Given the description of an element on the screen output the (x, y) to click on. 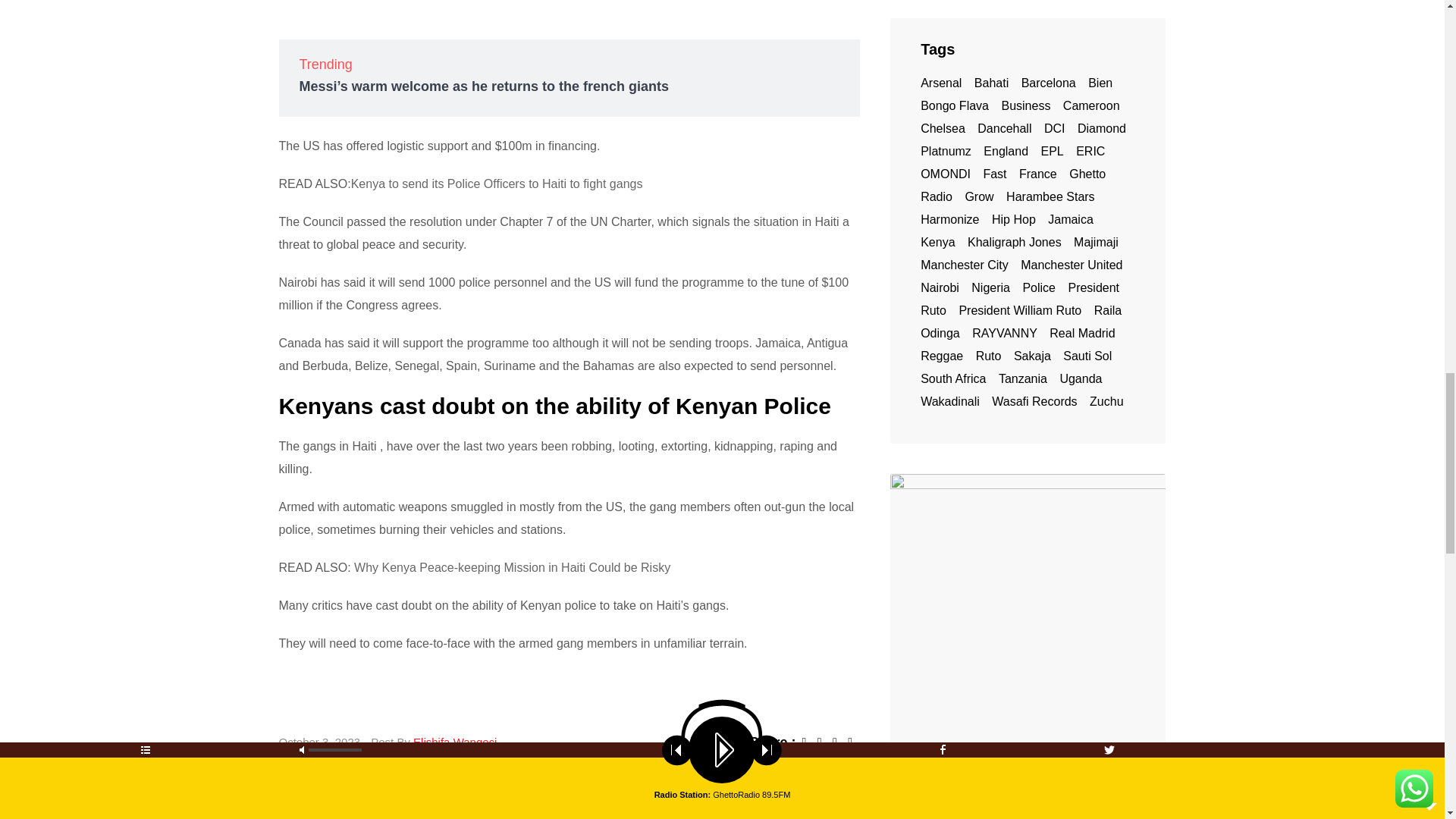
Posts by Elishifa Wangeci (454, 741)
